Given the description of an element on the screen output the (x, y) to click on. 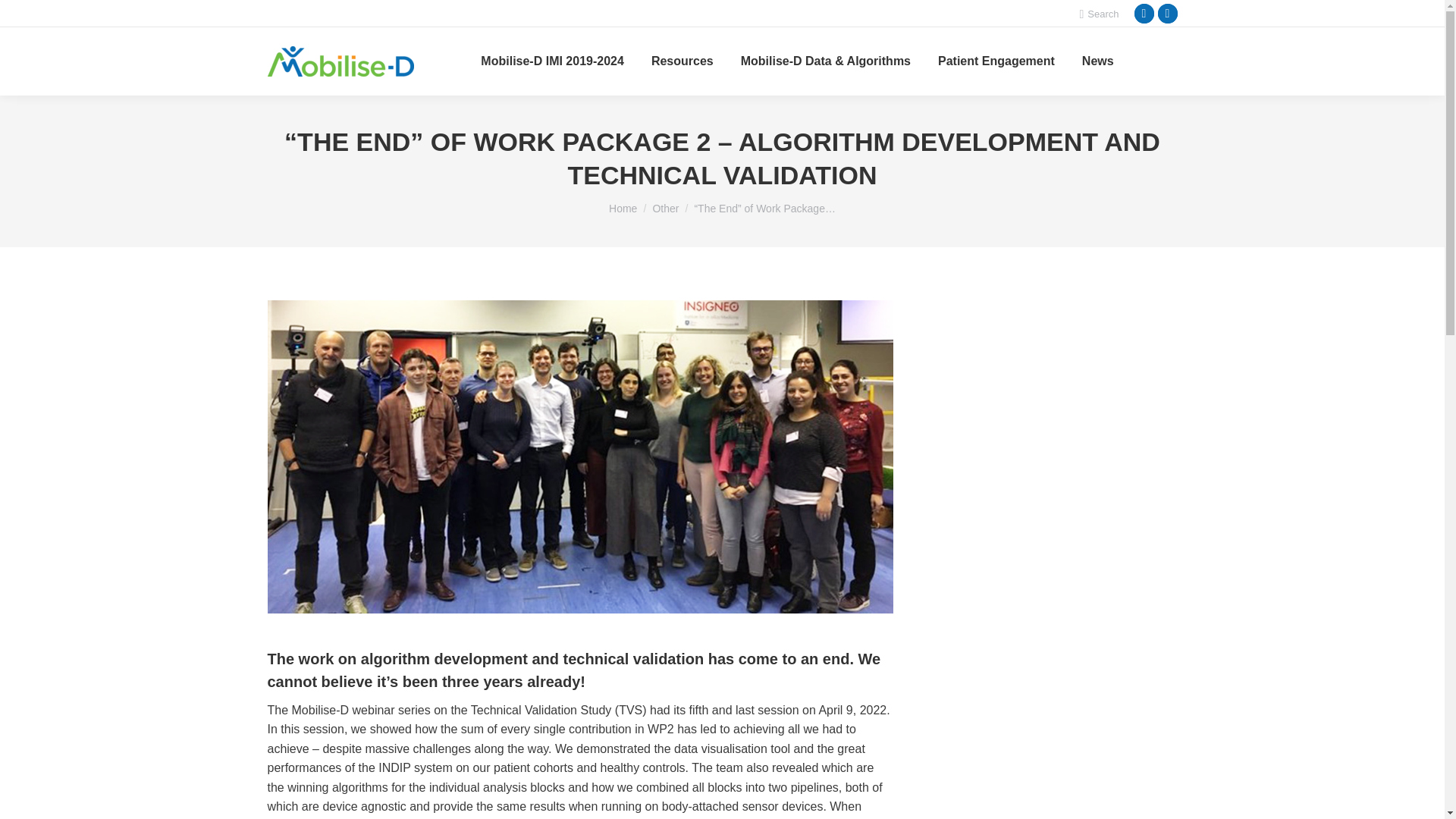
Go! (24, 16)
Patient Engagement (996, 60)
YouTube page opens in new window (1167, 13)
Search (1098, 12)
Linkedin page opens in new window (1144, 13)
Resources (681, 60)
Other (665, 208)
Linkedin page opens in new window (1144, 13)
Home (622, 208)
News (1097, 60)
YouTube page opens in new window (1167, 13)
Mobilise-D IMI 2019-2024 (552, 60)
